Given the description of an element on the screen output the (x, y) to click on. 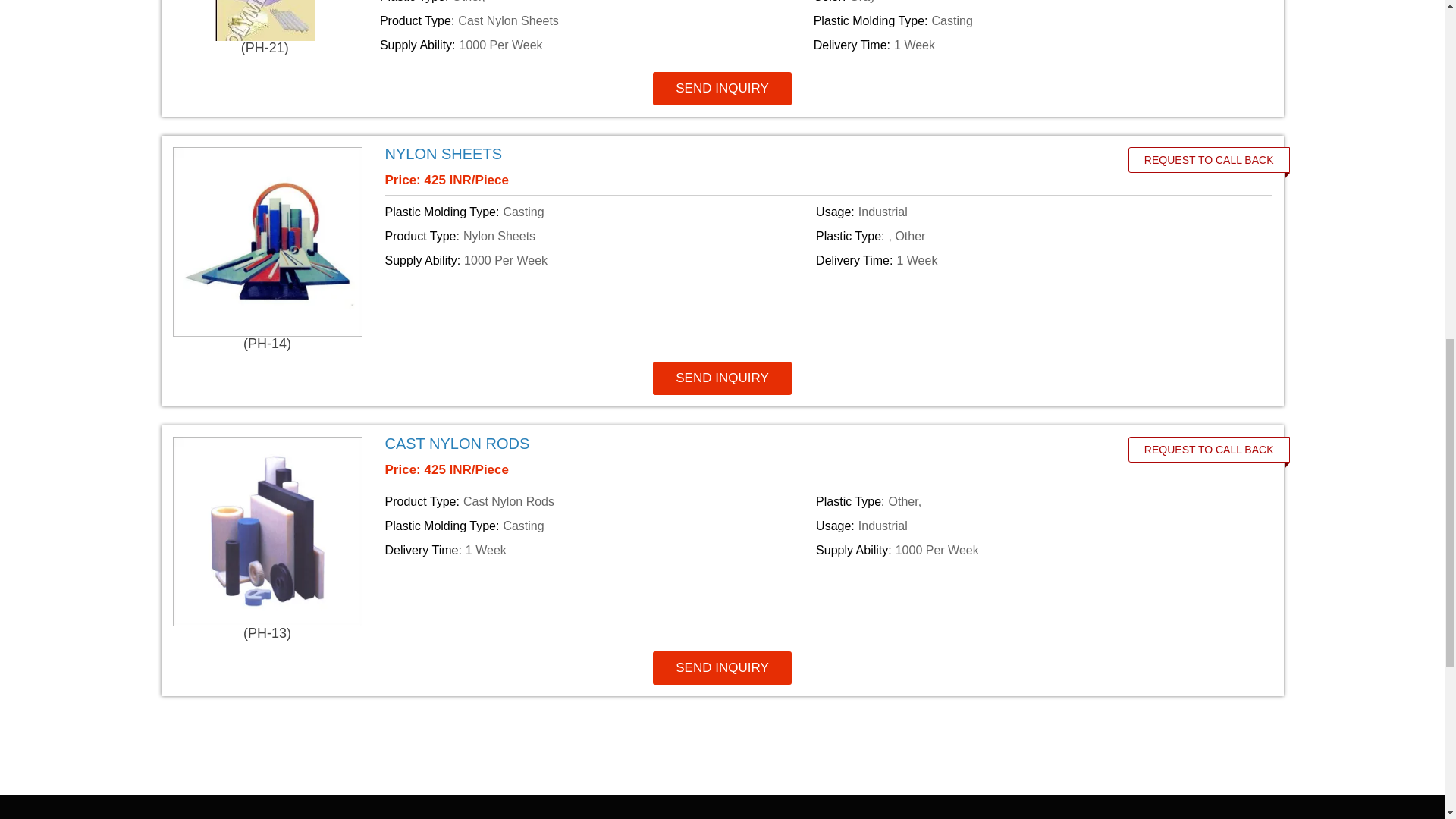
CAST NYLON RODS (457, 443)
Delivery Time: 1 Week (1027, 45)
Plastic Type: Other,  (594, 2)
REQUEST TO CALL BACK (1208, 449)
SEND INQUIRY (722, 88)
Nylon Sheets (739, 153)
NYLON SHEETS (443, 153)
Plastic Type: , Other (1028, 236)
Product Type: Cast Nylon Sheets (594, 21)
Usage: Industrial (1028, 212)
Color: Gray (1027, 2)
Plastic Molding Type: Casting (1027, 21)
REQUEST TO CALL BACK (1208, 159)
Plastic Molding Type: Casting (597, 212)
SEND INQUIRY (722, 667)
